Given the description of an element on the screen output the (x, y) to click on. 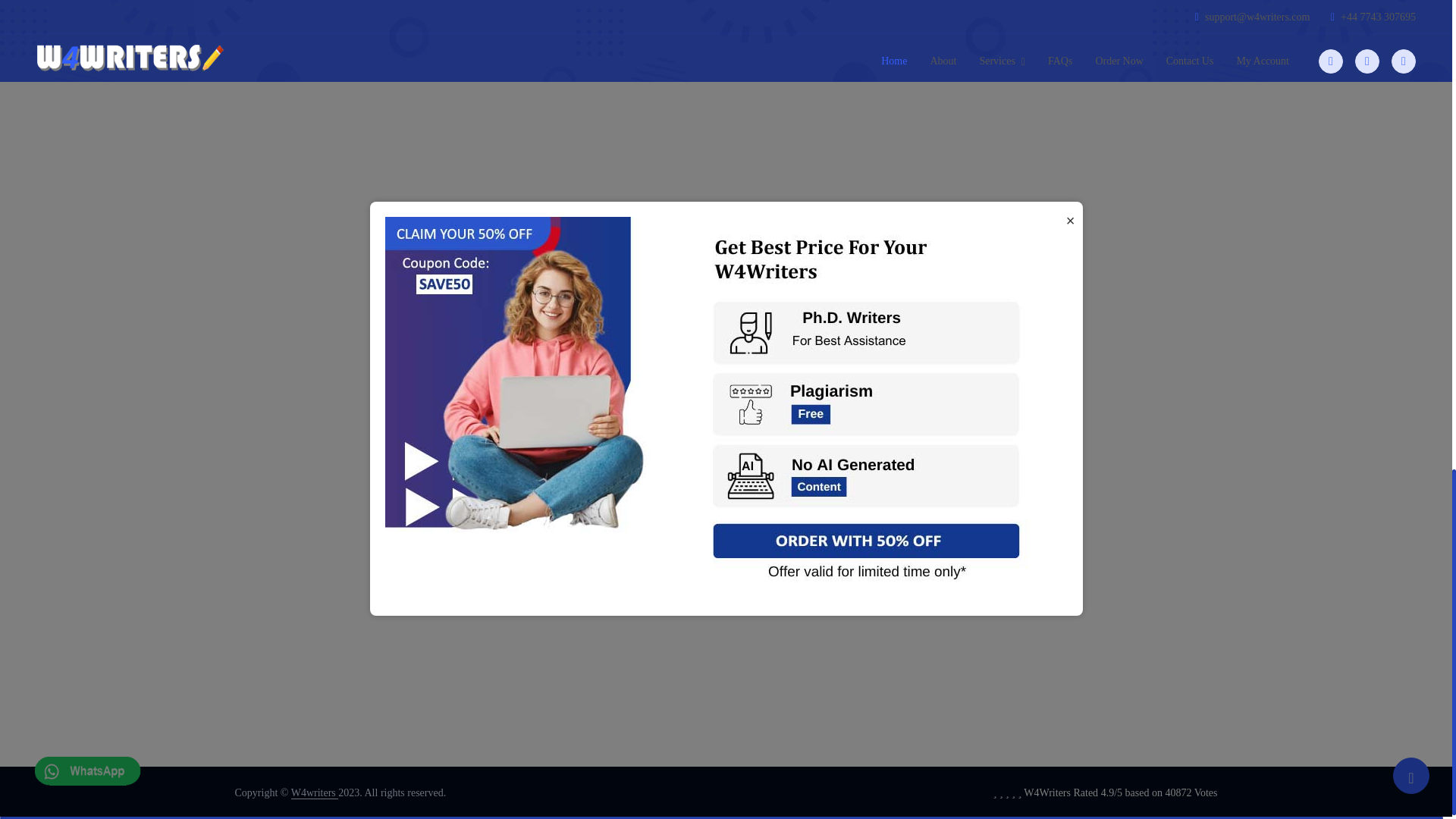
Read More (1070, 196)
Read More (1070, 316)
Read More (1070, 49)
